Given the description of an element on the screen output the (x, y) to click on. 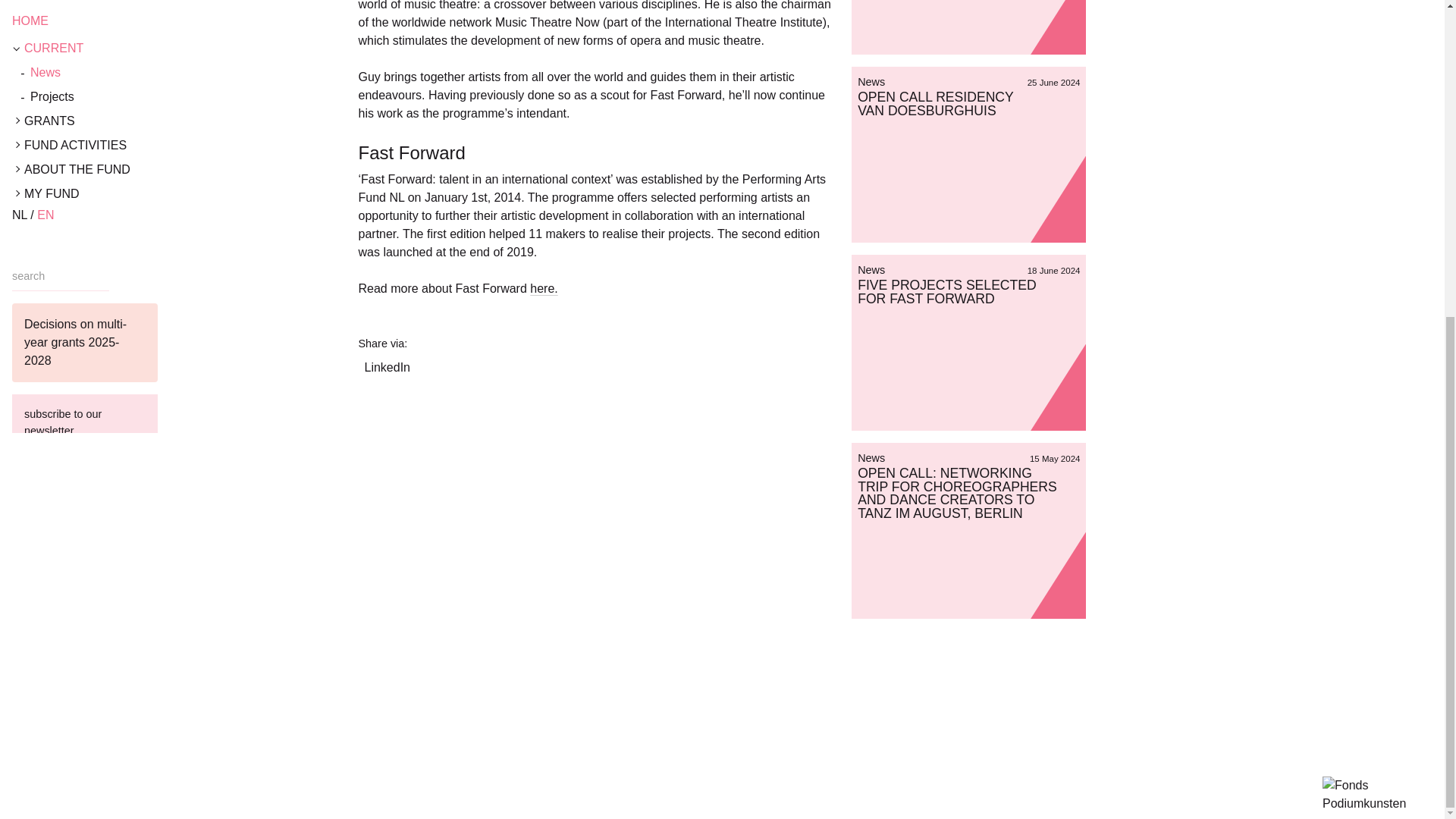
OPEN CALL RESIDENCY VAN DOESBURGHUIS (935, 103)
here. (543, 287)
LinkedIn (384, 364)
FIVE PROJECTS SELECTED FOR FAST FORWARD (946, 291)
